Given the description of an element on the screen output the (x, y) to click on. 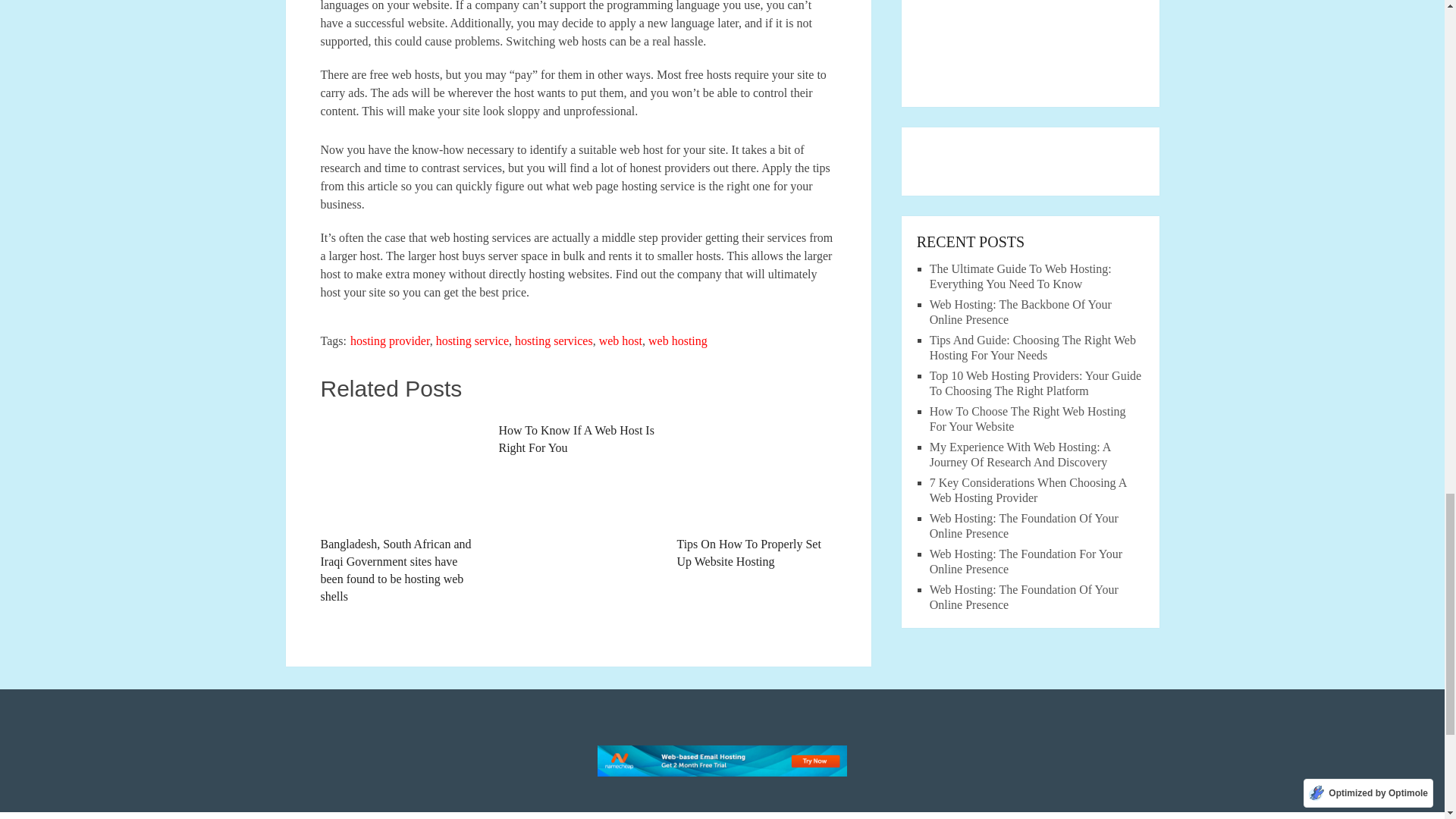
hosting provider (389, 340)
hosting service (471, 340)
Tips On How To Properly Set Up Website Hosting (756, 492)
How To Know If A Web Host Is Right For You (577, 435)
hosting services (553, 340)
web hosting (677, 340)
web host (620, 340)
